Given the description of an element on the screen output the (x, y) to click on. 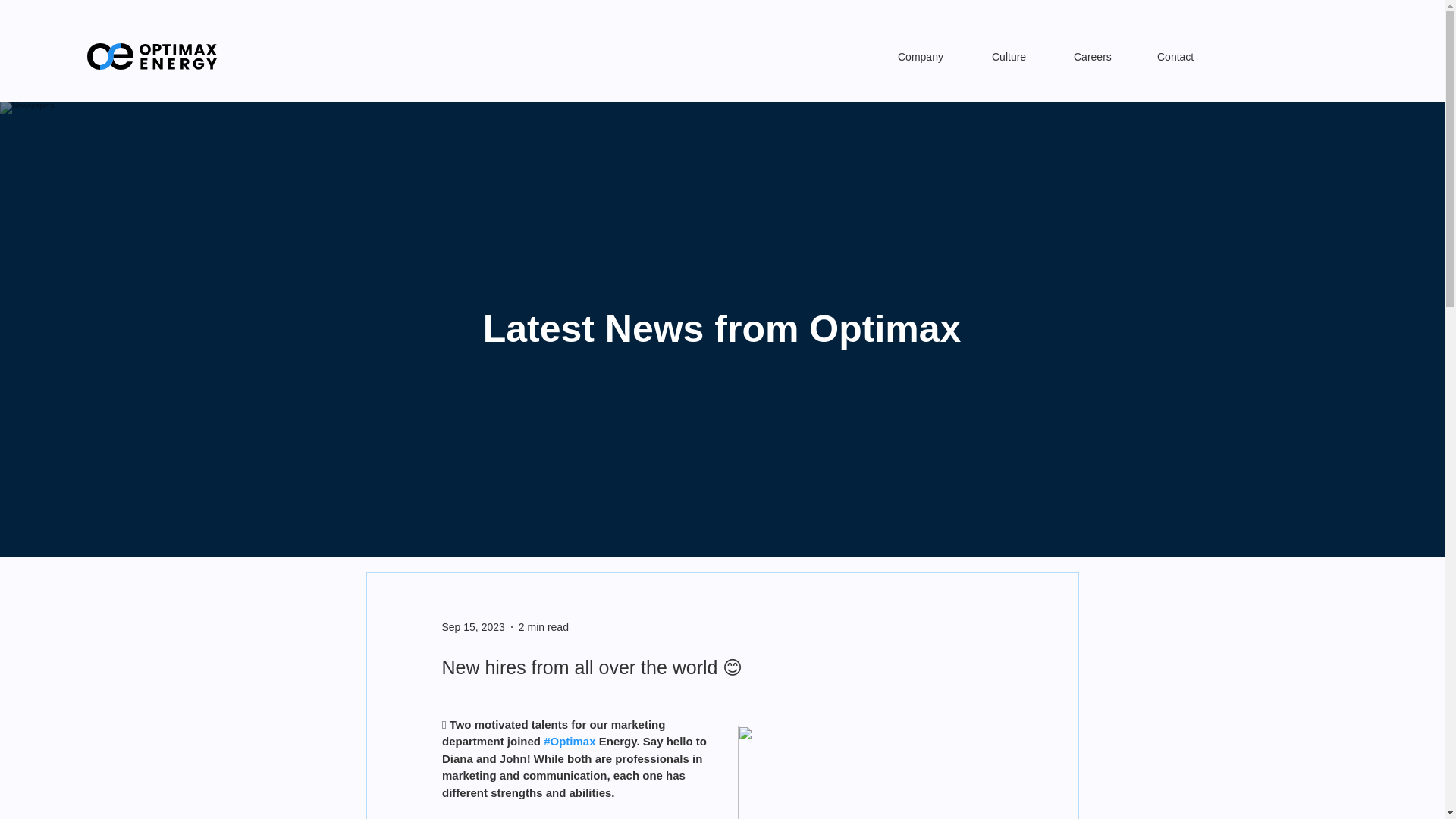
Culture (1020, 56)
Company (932, 56)
Sep 15, 2023 (472, 625)
2 min read (543, 625)
Contact (1188, 56)
